Given the description of an element on the screen output the (x, y) to click on. 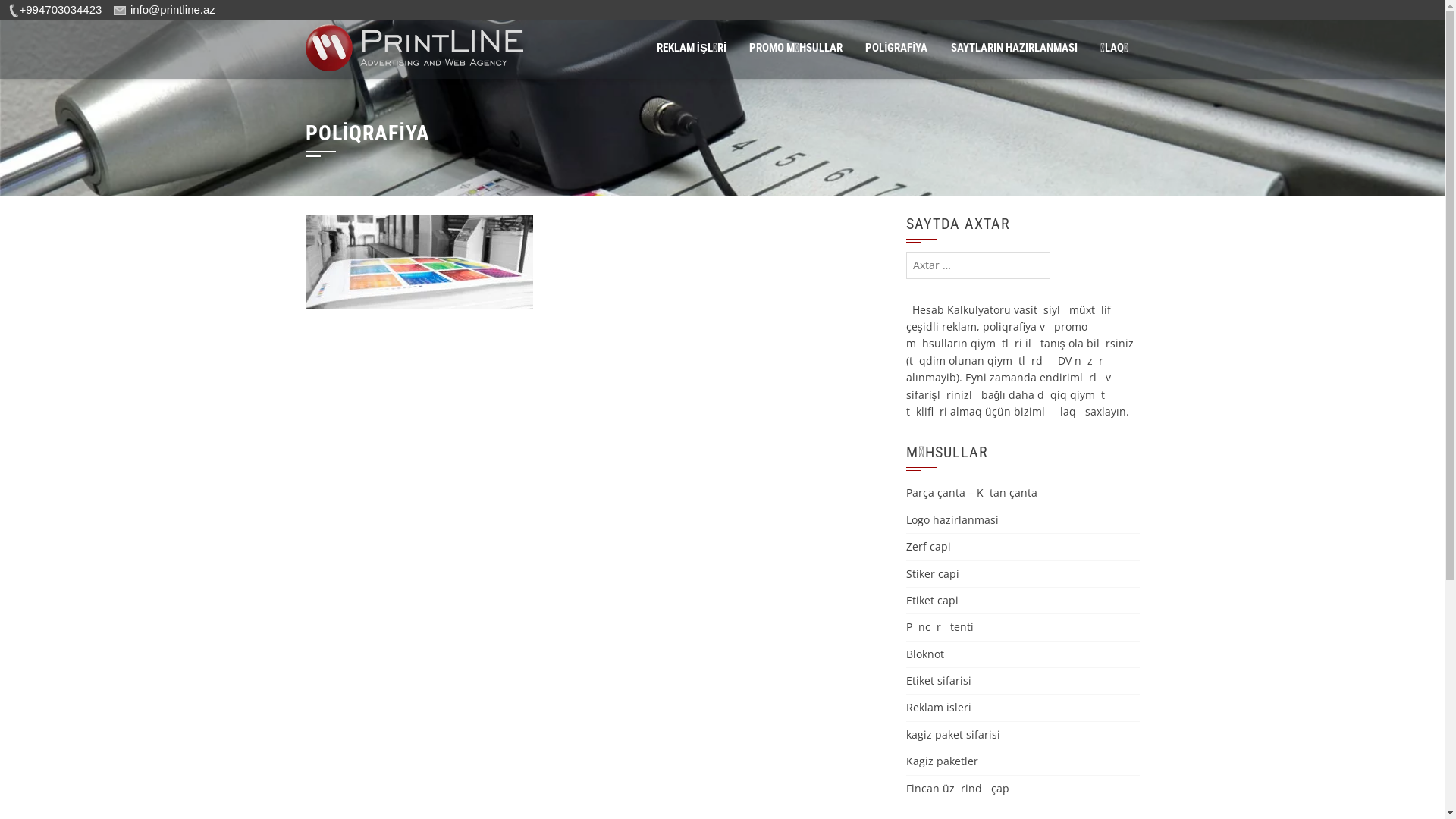
Kagiz paketler Element type: text (941, 760)
Stiker capi Element type: text (931, 572)
kagiz paket sifarisi Element type: text (952, 734)
Bloknot Element type: text (924, 653)
POLIGRAFIYA Element type: text (895, 47)
Etiket sifarisi Element type: text (937, 680)
SAYTLARIN HAZIRLANMASI Element type: text (1013, 47)
Zerf capi Element type: text (927, 546)
Reklam isleri Element type: text (937, 706)
info@printline.az Element type: text (165, 9)
Logo hazirlanmasi Element type: text (951, 519)
Axtar Element type: text (28, 13)
Etiket capi Element type: text (931, 600)
+994703034423 Element type: text (54, 9)
